Given the description of an element on the screen output the (x, y) to click on. 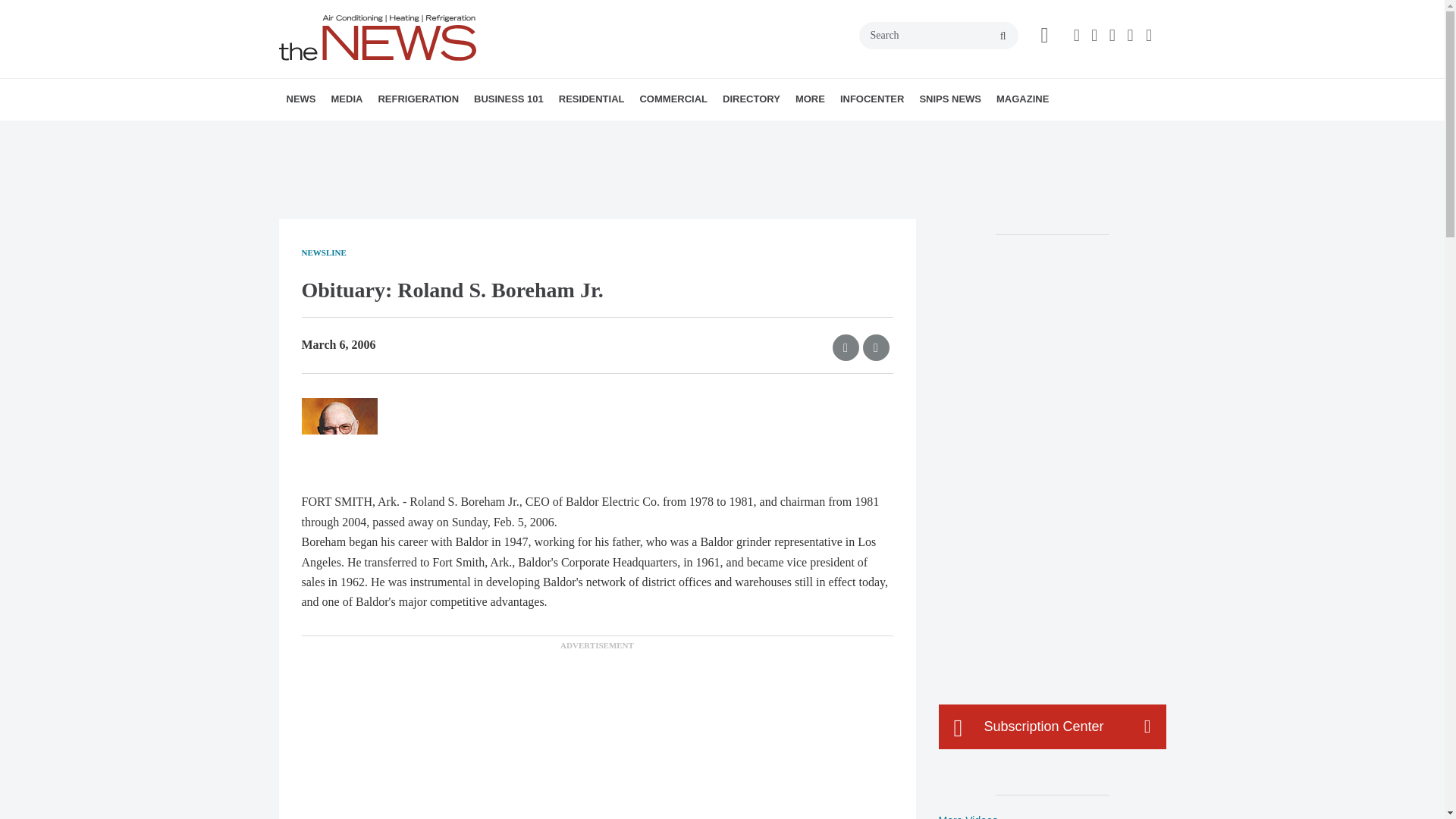
BUSINESS 101 (508, 98)
MANUFACTURER REPORTS (386, 132)
DUCTWORD PUZZLE (449, 132)
THE NEWS HVACR QUIZ (445, 132)
AHR EXPO 2024 VIDEOS (424, 132)
EBOOKS (442, 132)
HVAC DATA (391, 132)
NEWS (301, 98)
REFRIGERANTS (464, 132)
BREAKING NEWS (373, 132)
NEW HVAC PRODUCTS (380, 132)
Search (938, 35)
search (1002, 36)
ONLINE POLL (452, 132)
VIDEOS (417, 132)
